Given the description of an element on the screen output the (x, y) to click on. 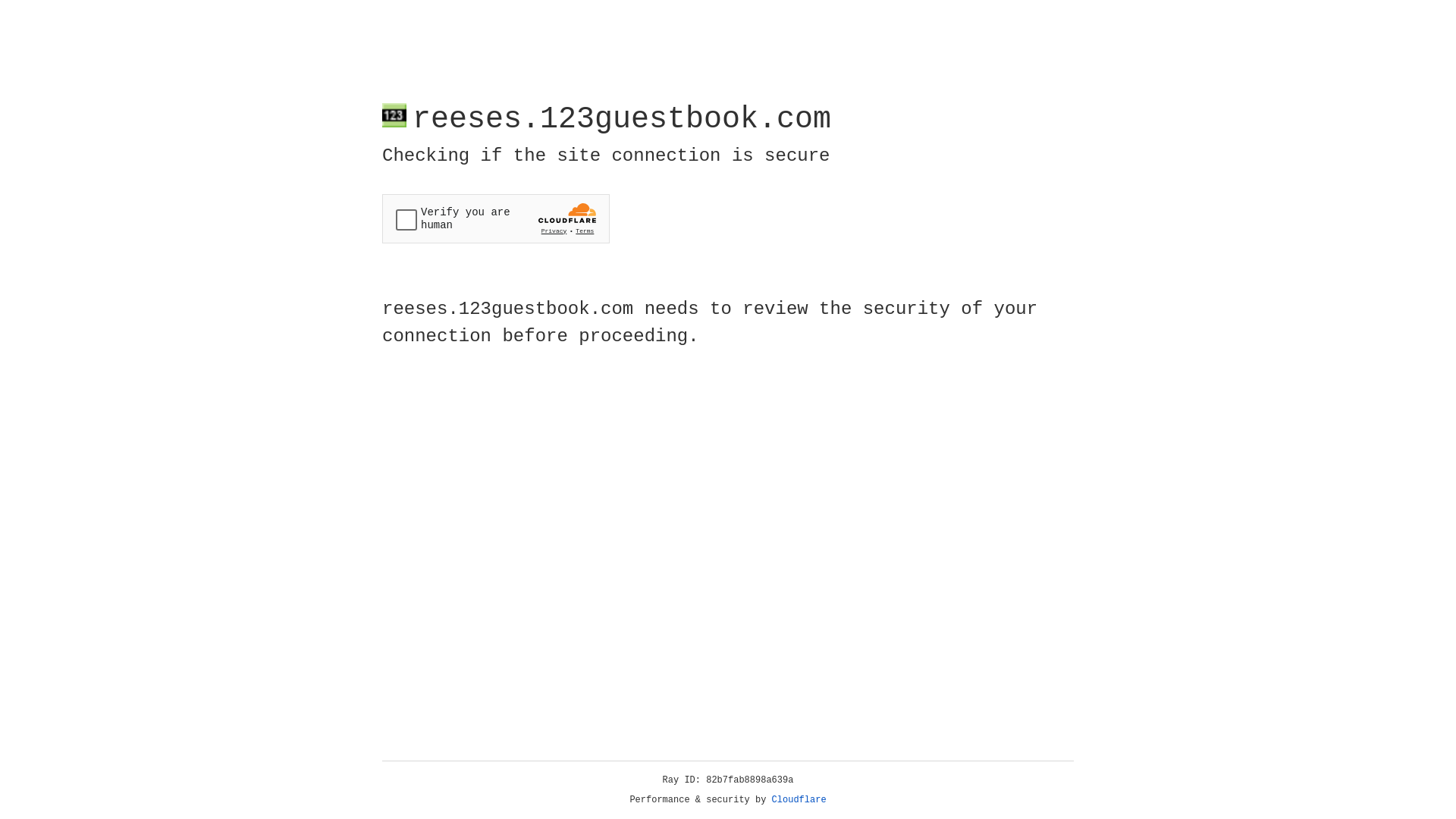
Widget containing a Cloudflare security challenge Element type: hover (495, 218)
Cloudflare Element type: text (798, 799)
